Given the description of an element on the screen output the (x, y) to click on. 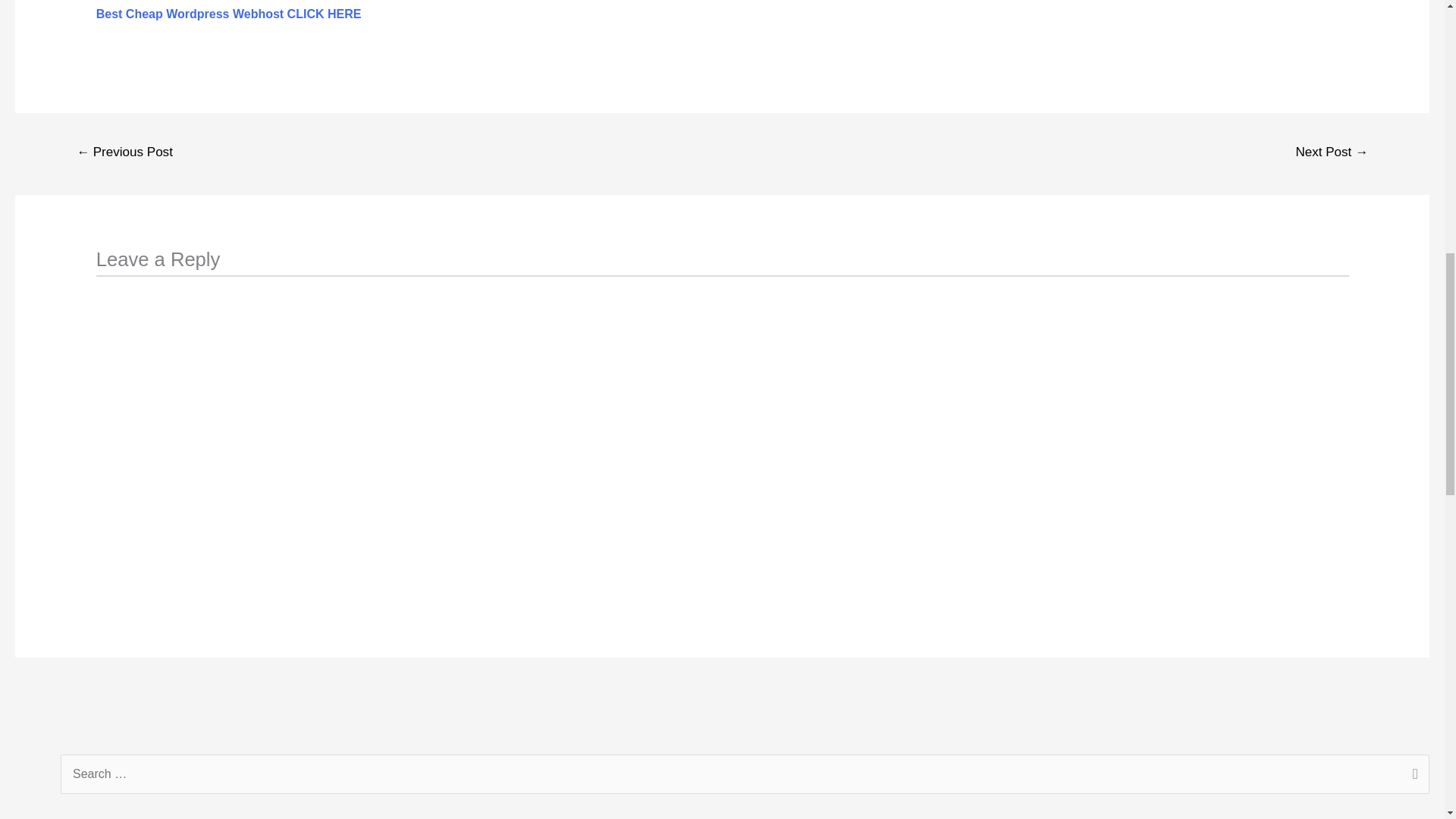
Best Cheap Wordpress Webhost CLICK HERE (228, 13)
